Given the description of an element on the screen output the (x, y) to click on. 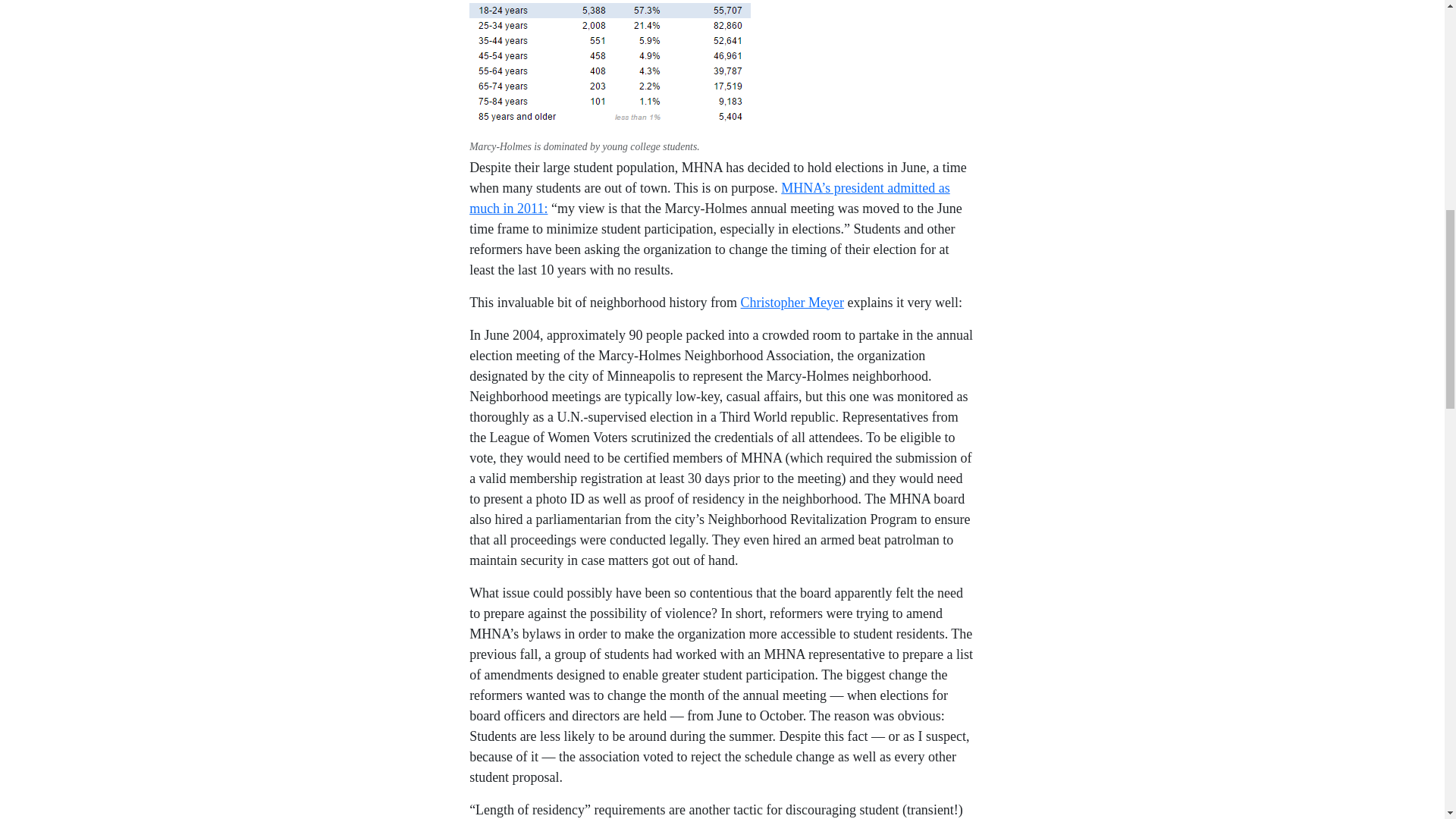
Christopher Meyer (792, 301)
